Given the description of an element on the screen output the (x, y) to click on. 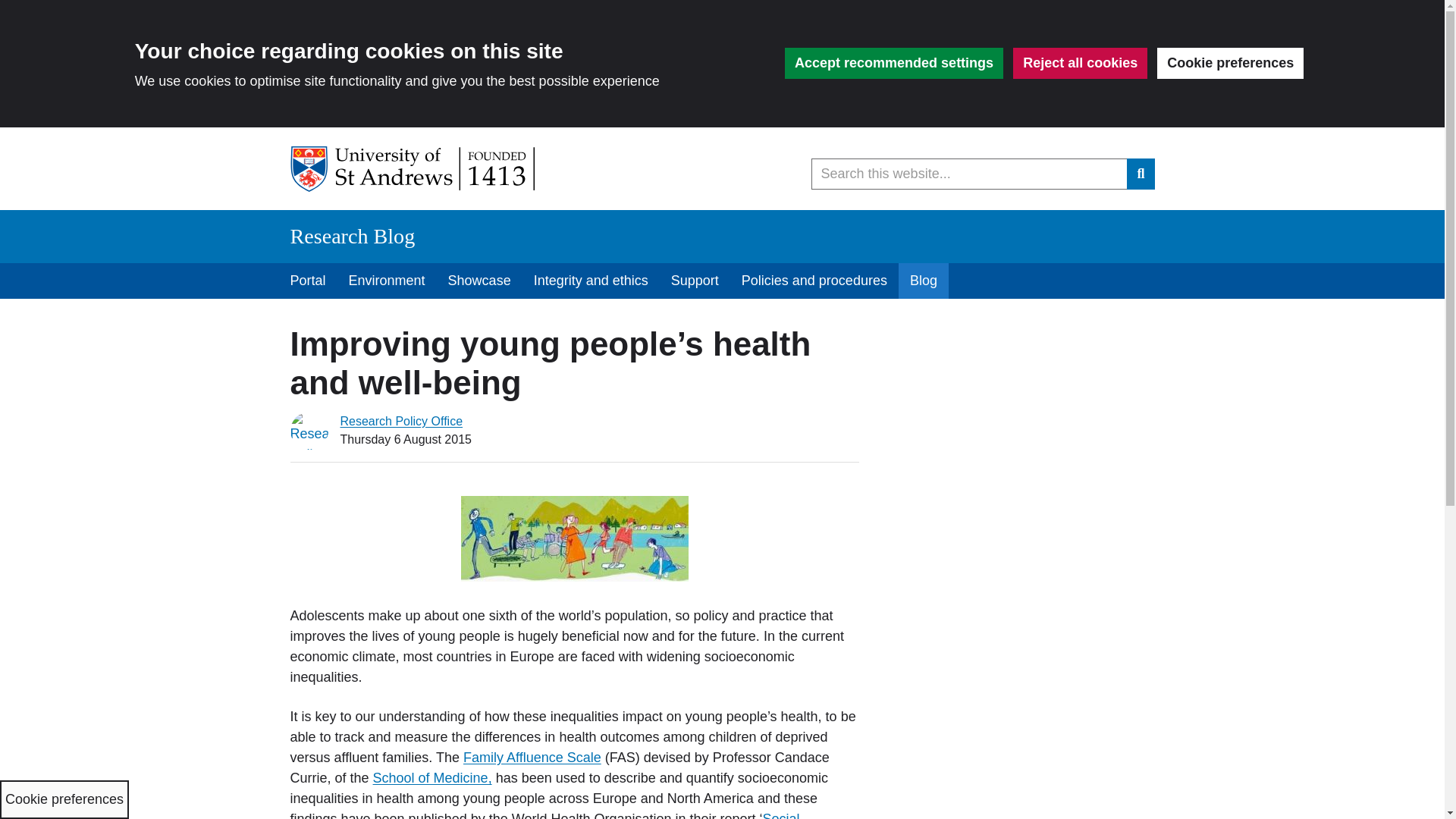
Accept recommended settings (893, 62)
Cookie preferences (1230, 62)
Family Affluence Scale (532, 757)
Research Policy Office (401, 420)
Policies and procedures (814, 280)
Posts by Research Policy Office (401, 420)
Showcase (479, 280)
Integrity and ethics (590, 280)
Environment (386, 280)
Portal (308, 280)
Blog (923, 280)
Research Blog (351, 236)
Support (694, 280)
Reject all cookies (1080, 62)
